Given the description of an element on the screen output the (x, y) to click on. 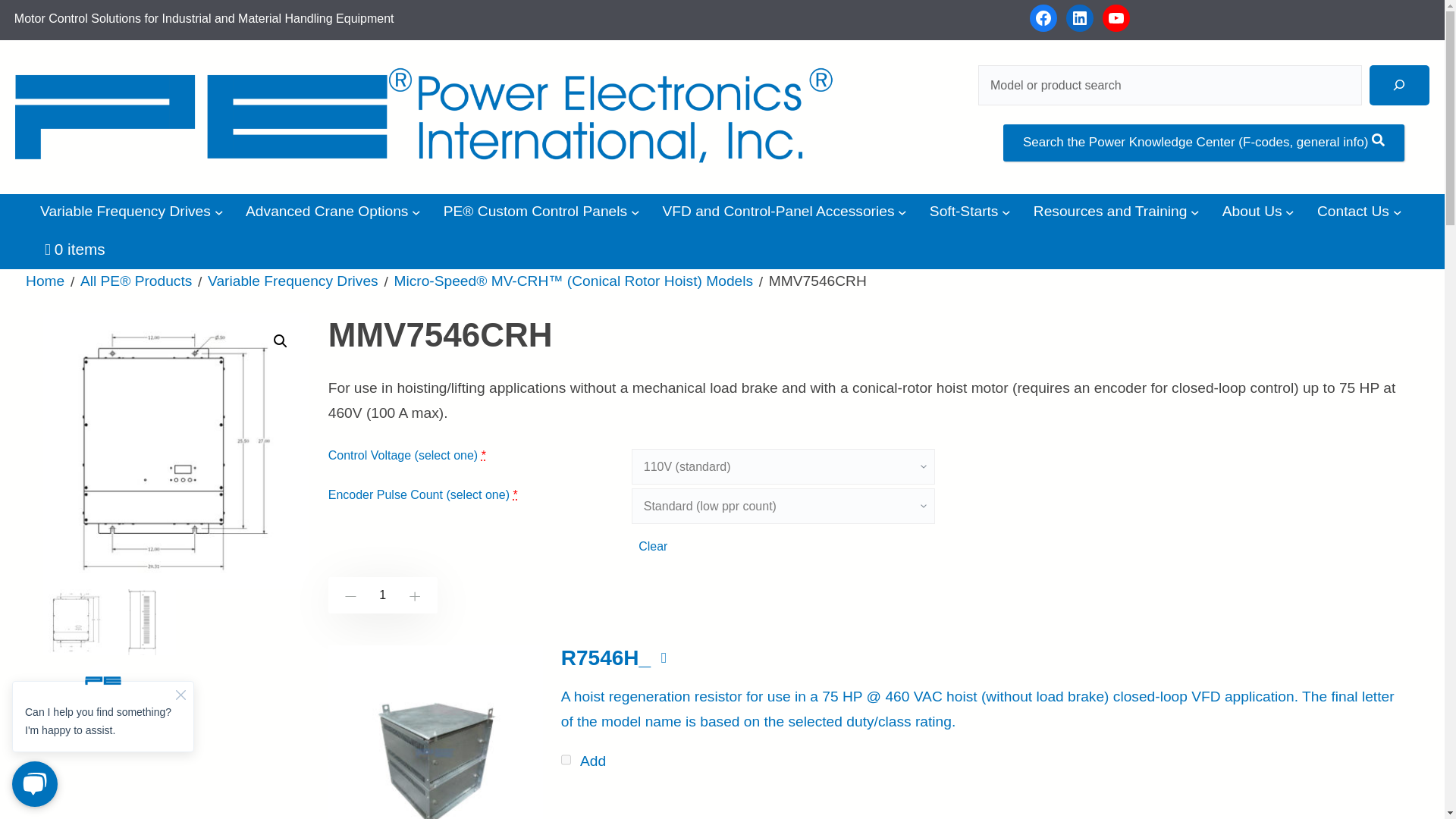
1 (383, 595)
Facebook (1043, 17)
VFD and Control-Panel Accessories (777, 212)
LinkedIn (1079, 17)
Up (416, 596)
Advanced Crane Options (326, 212)
PE Regen size R3.L.2 (436, 732)
Down (347, 596)
Start shopping (74, 249)
Variable Frequency Drives (125, 212)
YouTube (1115, 17)
